Given the description of an element on the screen output the (x, y) to click on. 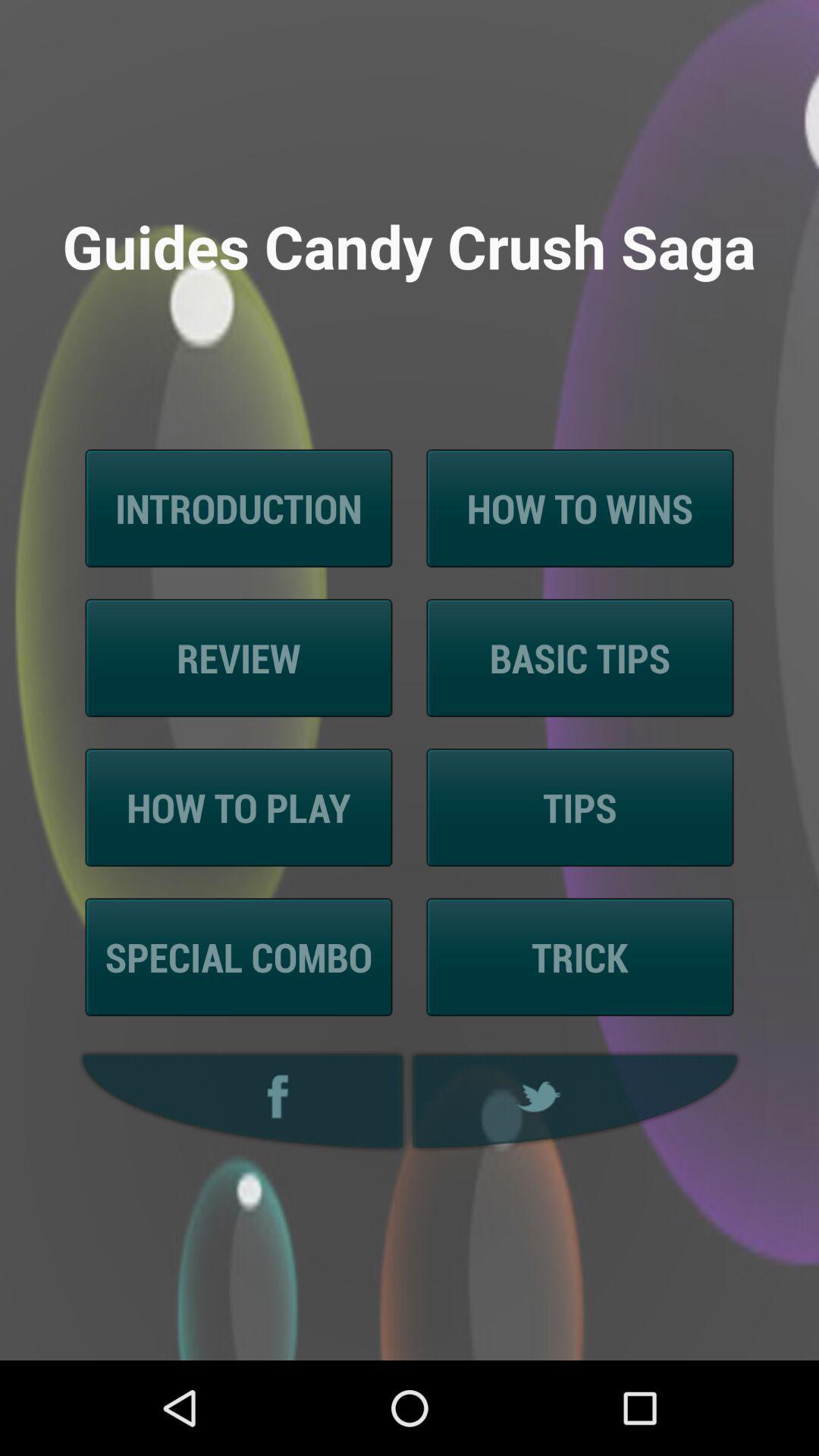
connect with facebook (238, 1101)
